Given the description of an element on the screen output the (x, y) to click on. 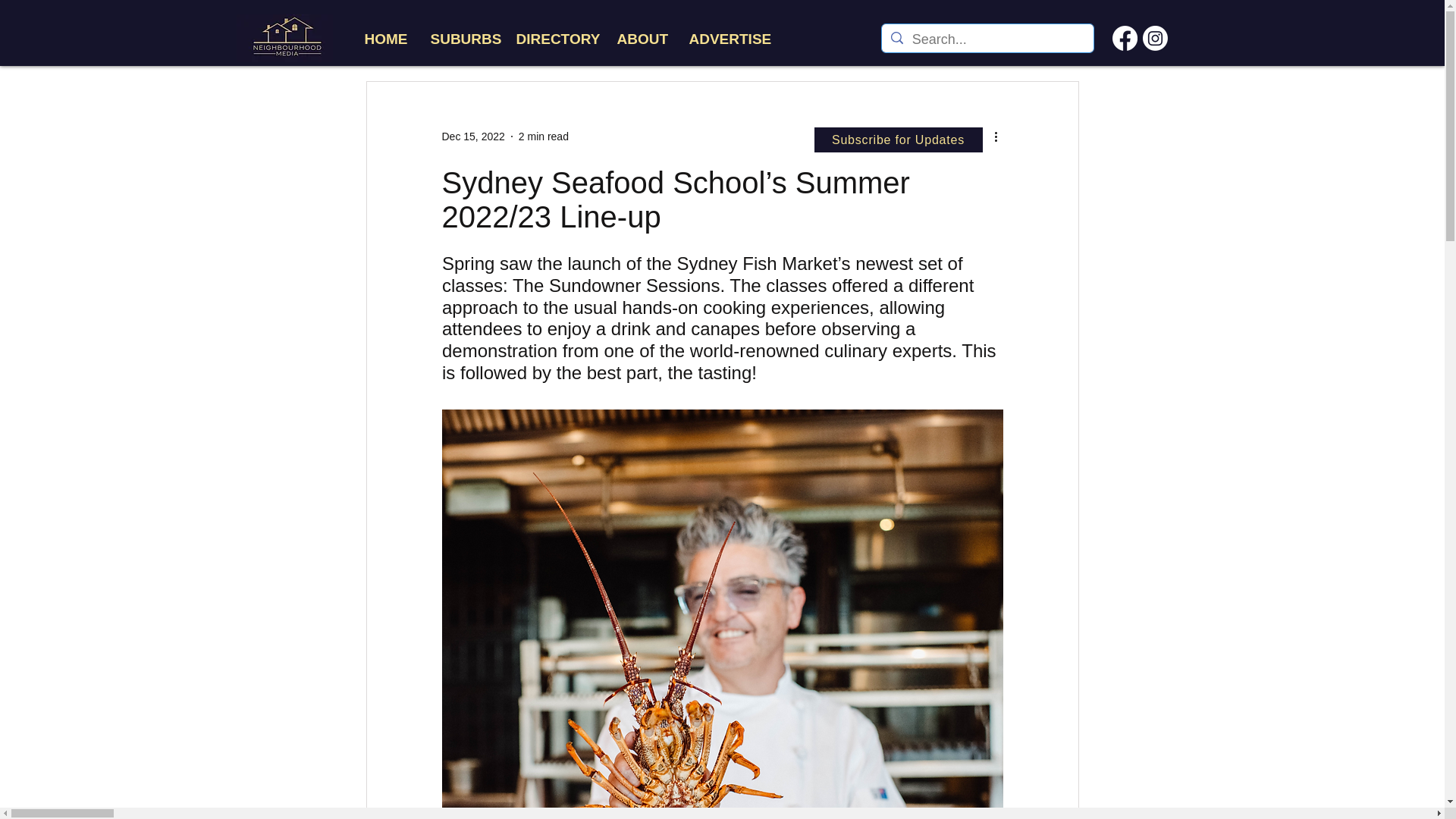
ABOUT (641, 37)
2 min read (543, 136)
HOME (385, 37)
ADVERTISE (726, 37)
SUBURBS (461, 37)
DIRECTORY (555, 37)
Dec 15, 2022 (472, 136)
Subscribe for Updates (897, 139)
